Given the description of an element on the screen output the (x, y) to click on. 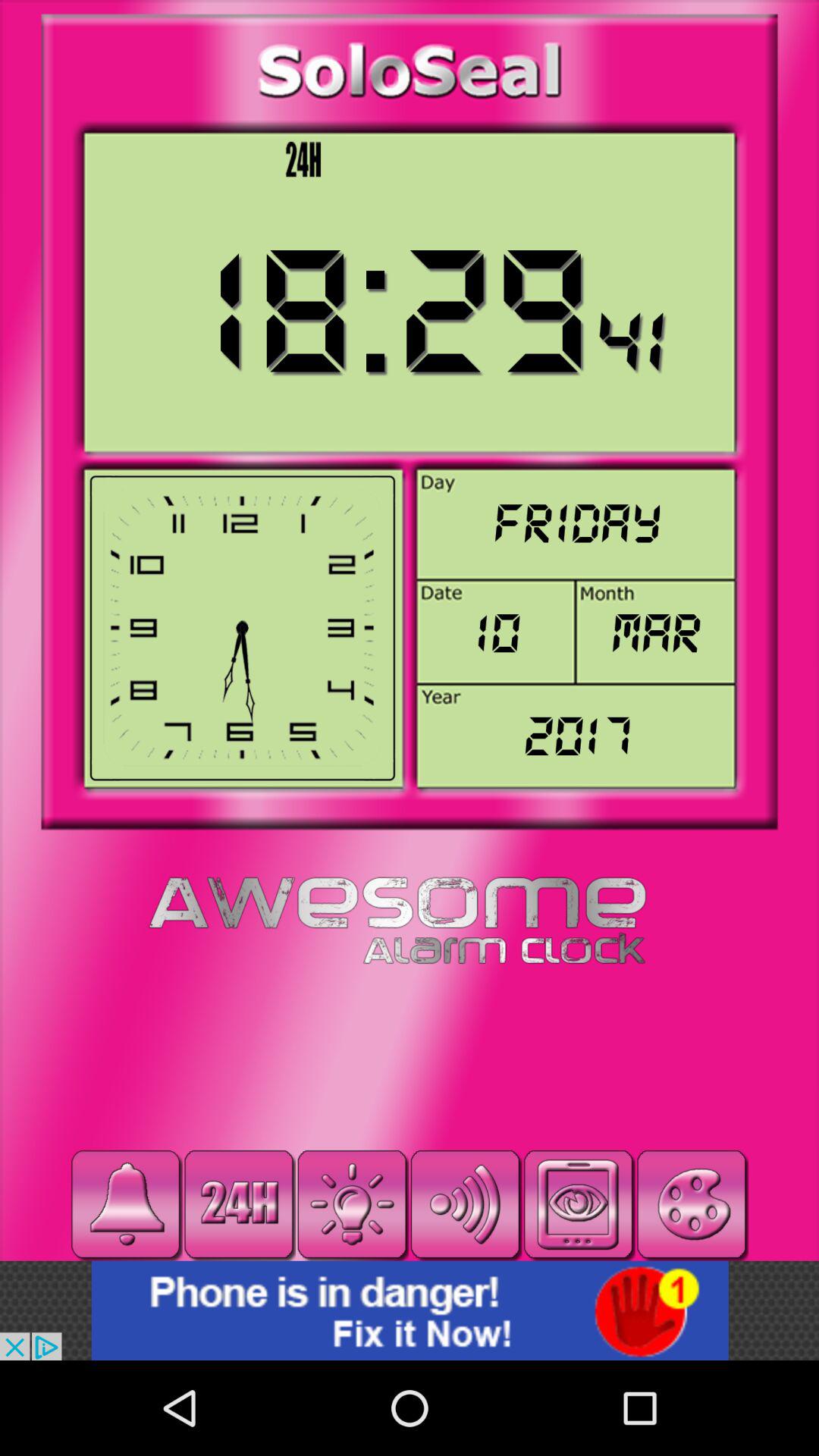
set alarm (125, 1203)
